Given the description of an element on the screen output the (x, y) to click on. 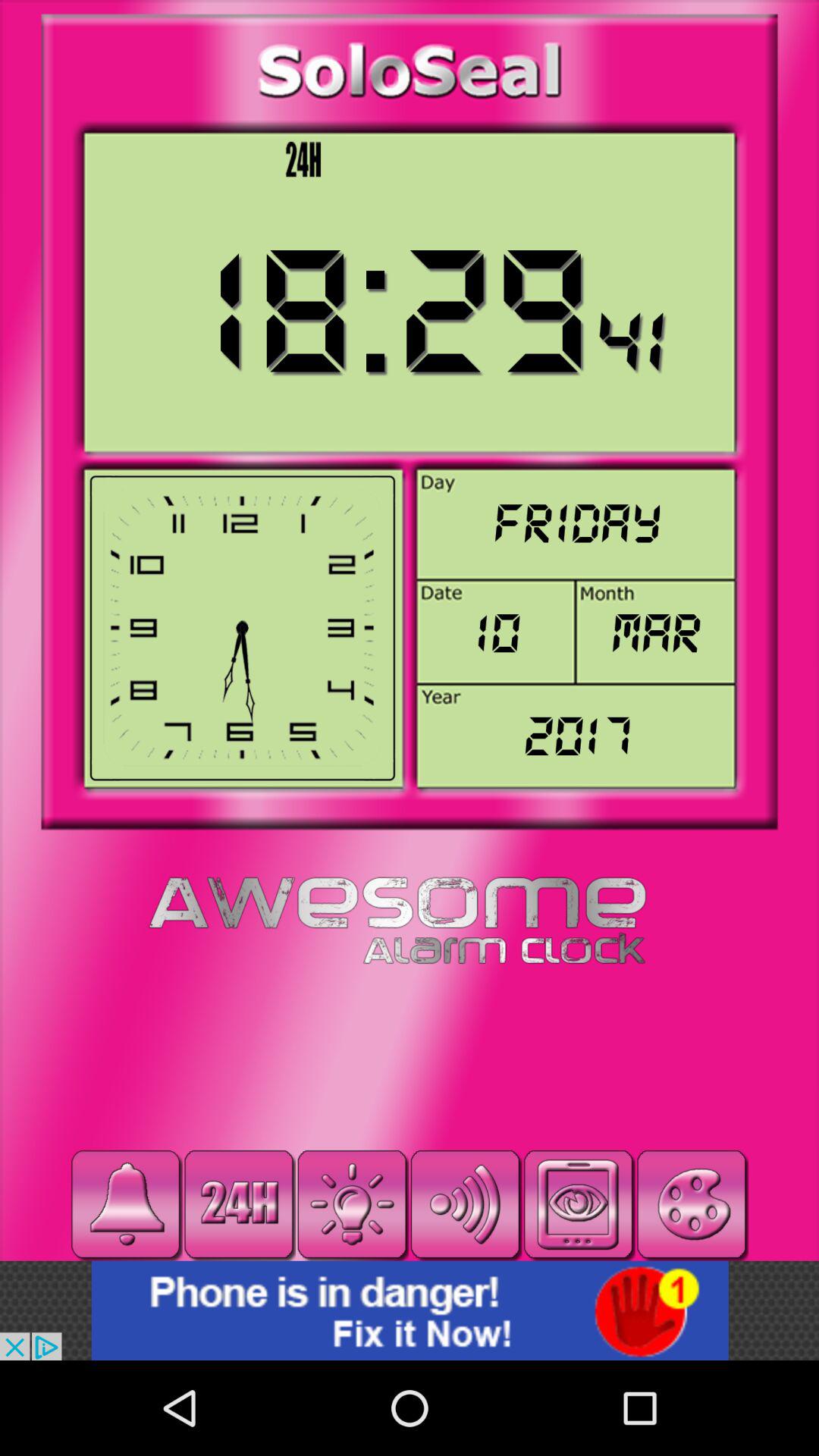
set alarm (125, 1203)
